Given the description of an element on the screen output the (x, y) to click on. 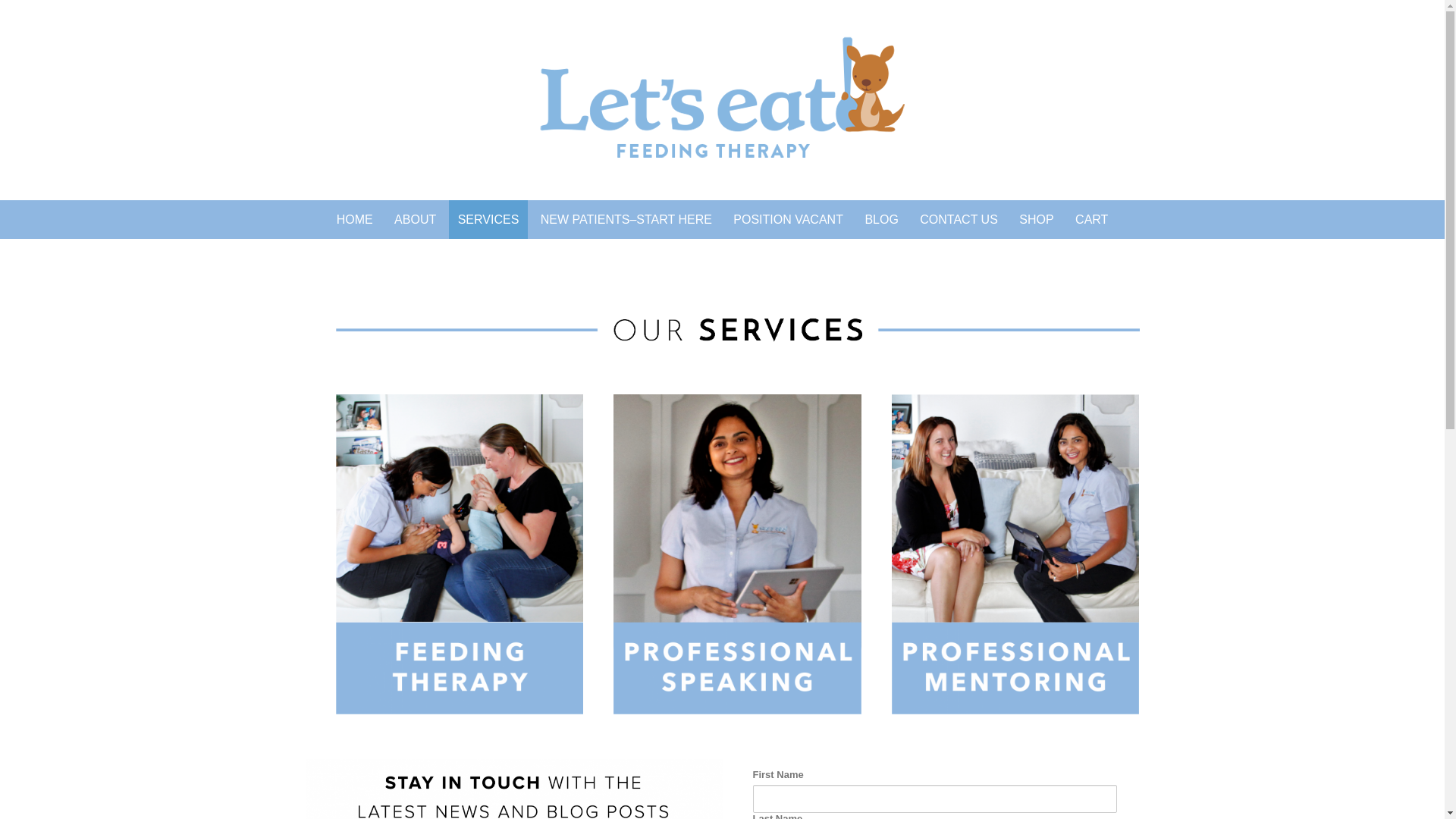
POSITION VACANT Element type: text (788, 219)
CONTACT US Element type: text (958, 219)
SERVICES Element type: text (488, 219)
Untitled-1-10-03 Element type: hover (737, 553)
Skip to content Element type: text (274, 199)
Untitled-1-10-02 Element type: hover (1015, 553)
Untitled-1-10-01 Element type: hover (459, 553)
CART Element type: text (1091, 219)
Let's Eat! Feeding Therapy Feeding Therapy Element type: hover (721, 96)
SHOP Element type: text (1036, 219)
ABOUT Element type: text (415, 219)
HOME Element type: text (354, 219)
LetsEat_Website_home part 1 copy-12 Element type: hover (737, 329)
BLOG Element type: text (880, 219)
